Given the description of an element on the screen output the (x, y) to click on. 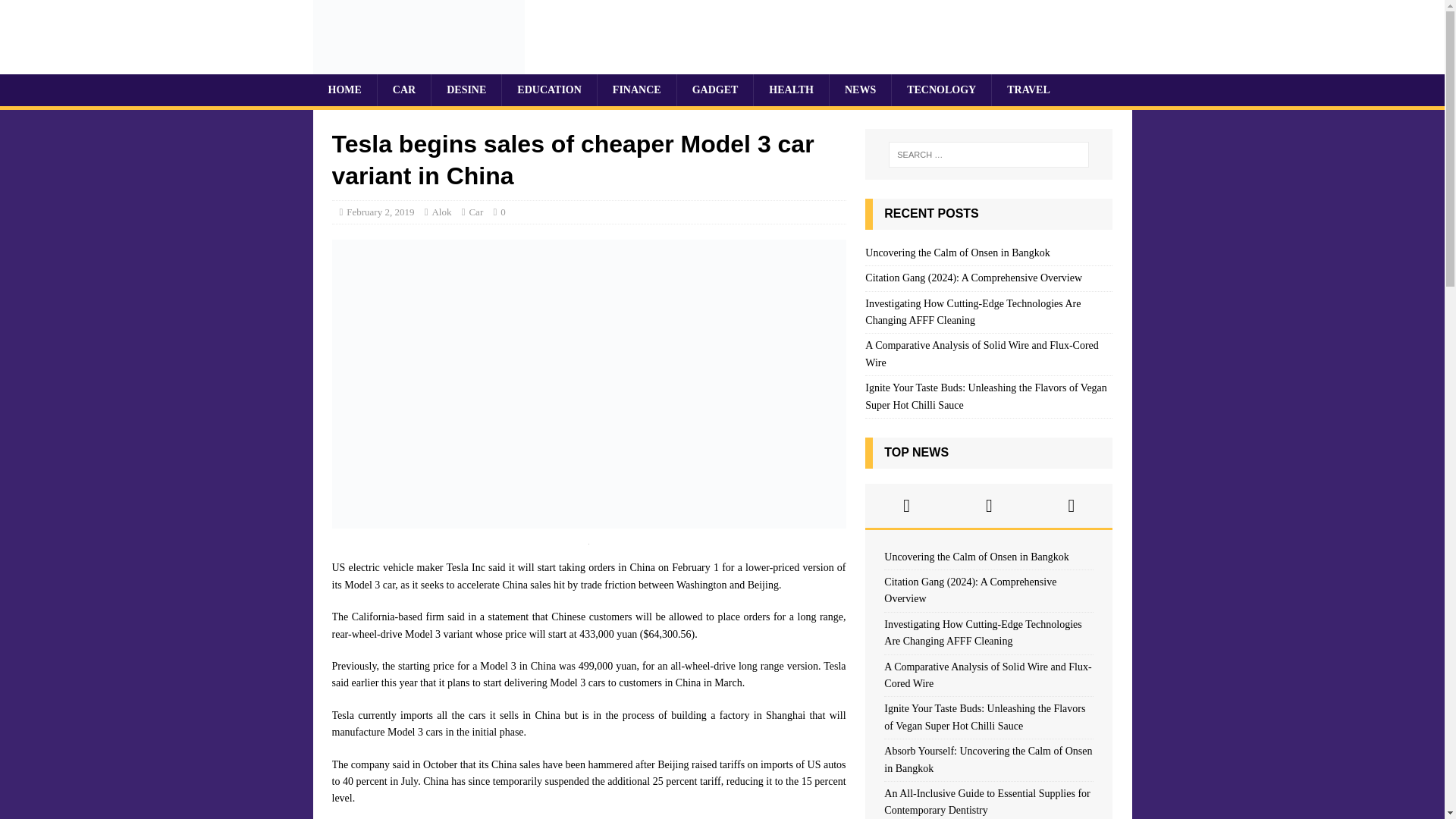
0 (502, 211)
Uncovering the Calm of Onsen in Bangkok (975, 556)
Alok (440, 211)
Uncovering the Calm of Onsen in Bangkok (956, 252)
A Comparative Analysis of Solid Wire and Flux-Cored Wire (981, 353)
CAR (403, 90)
HEALTH (790, 90)
TRAVEL (1028, 90)
GADGET (715, 90)
Car (475, 211)
HOME (344, 90)
wowgoldone (418, 65)
EDUCATION (548, 90)
